Given the description of an element on the screen output the (x, y) to click on. 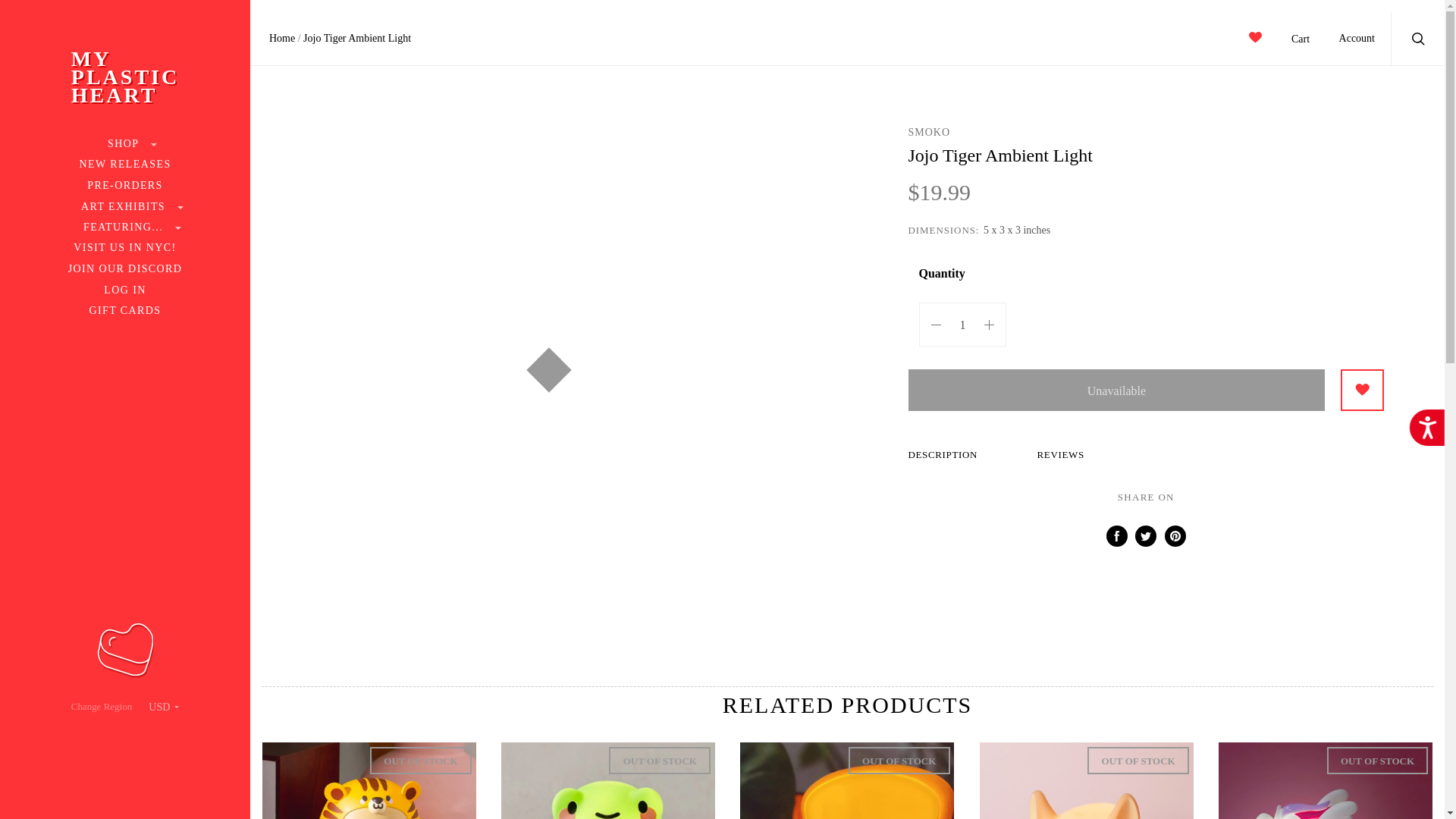
PRE-ORDERS (124, 76)
1 (125, 186)
NEW RELEASES (962, 324)
ART EXHIBITS (124, 164)
SHOP (124, 206)
